Given the description of an element on the screen output the (x, y) to click on. 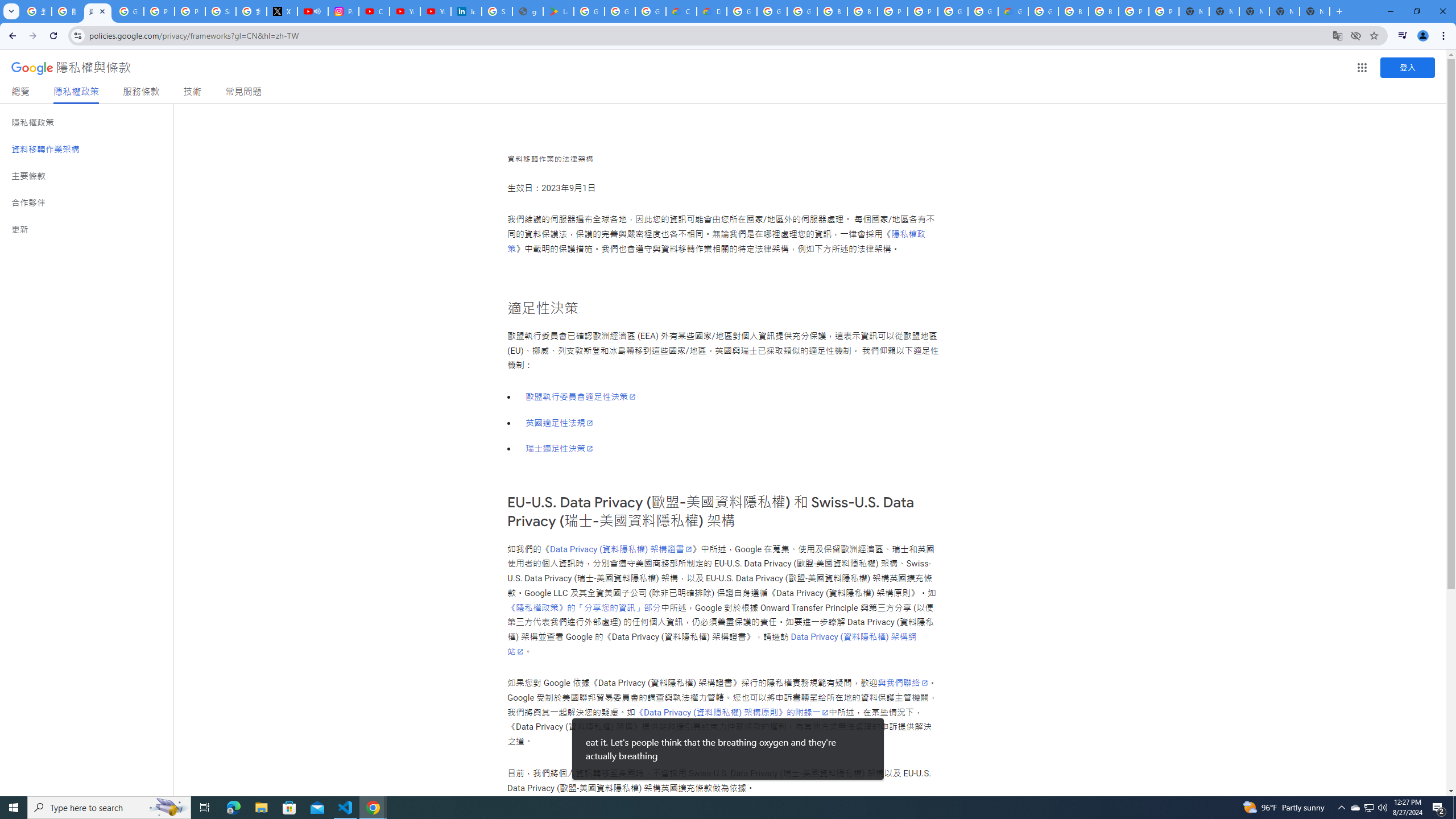
Browse Chrome as a guest - Computer - Google Chrome Help (862, 11)
YouTube Culture & Trends - YouTube Top 10, 2021 (434, 11)
Browse Chrome as a guest - Computer - Google Chrome Help (1072, 11)
Google Workspace - Specific Terms (650, 11)
